Given the description of an element on the screen output the (x, y) to click on. 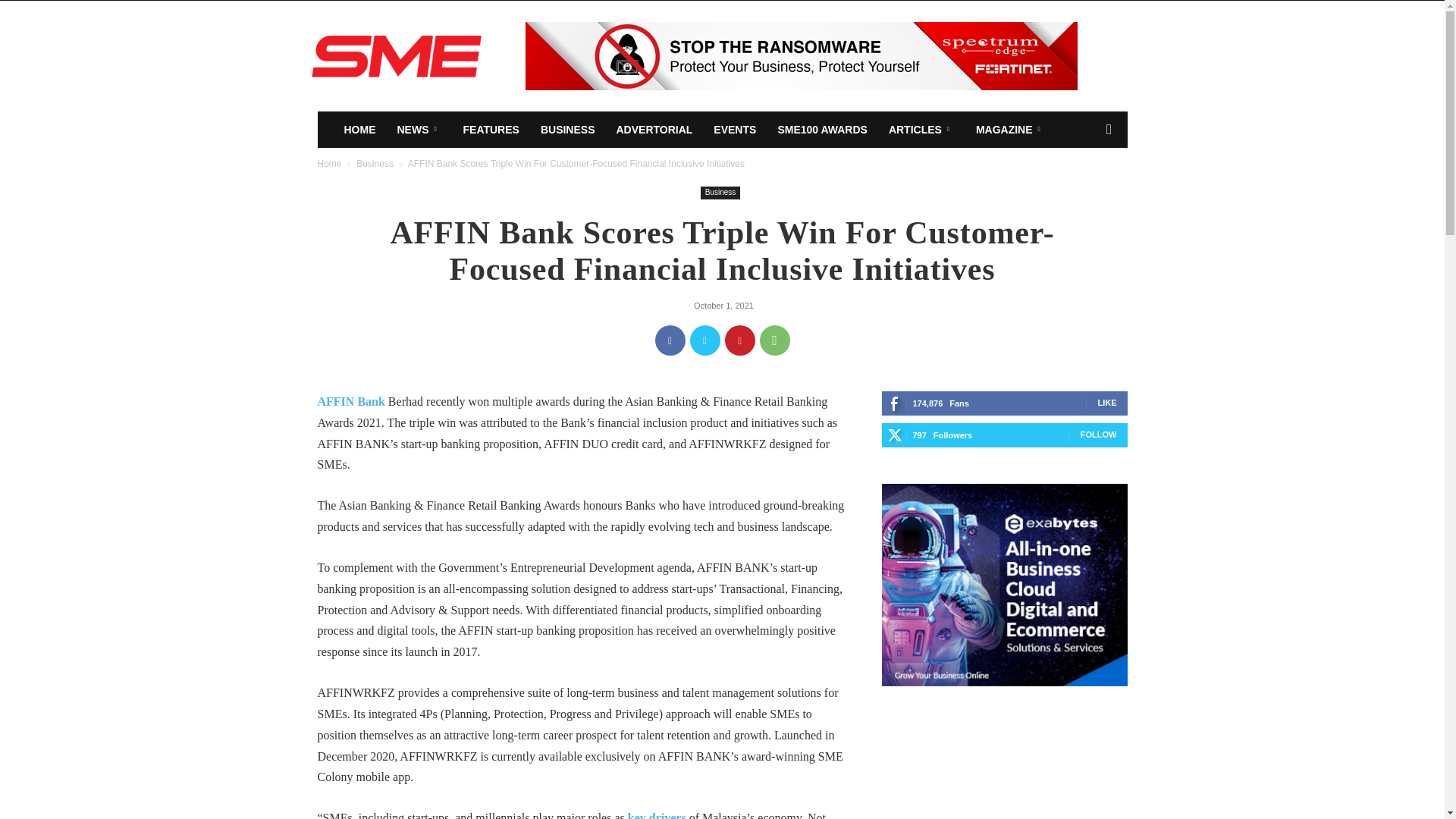
WhatsApp (775, 340)
Pinterest (740, 340)
View all posts in Business (374, 163)
Facebook (670, 340)
Twitter (705, 340)
